Given the description of an element on the screen output the (x, y) to click on. 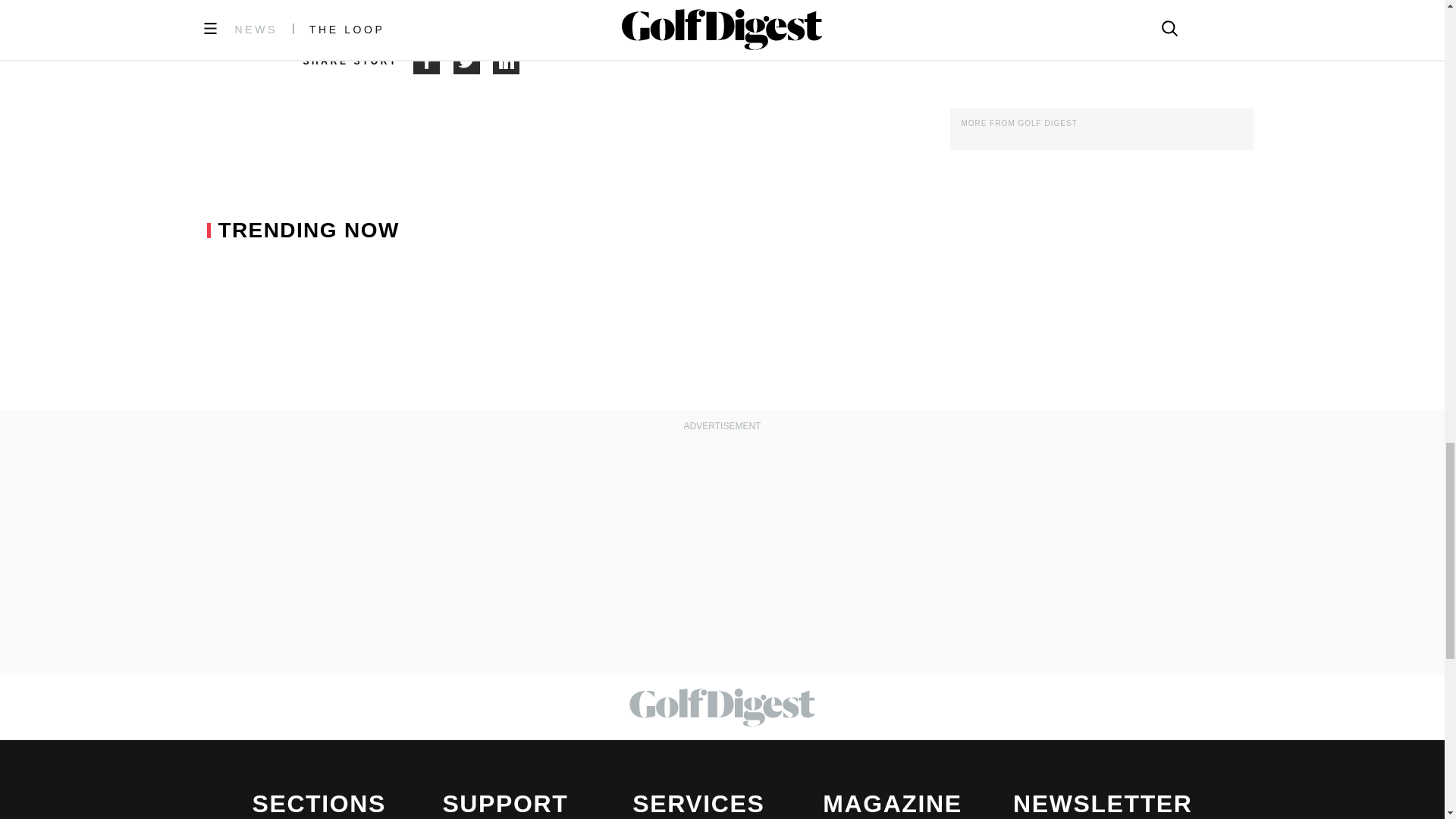
Share on Twitter (472, 60)
Share on LinkedIn (506, 60)
Share on Facebook (432, 60)
